Given the description of an element on the screen output the (x, y) to click on. 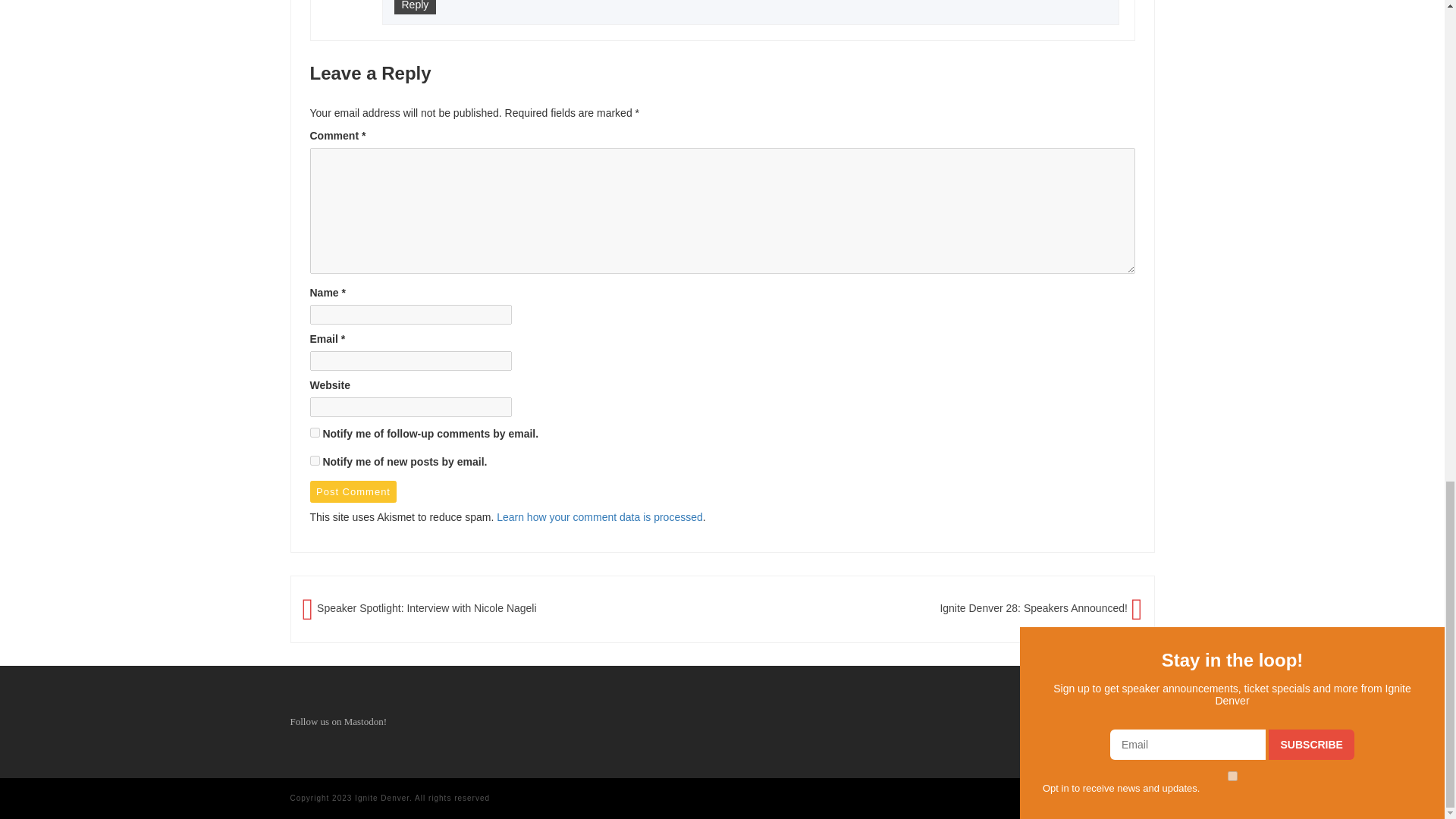
Follow us on Mastodon! (337, 721)
subscribe (313, 432)
Ignite Denver 28: Speakers Announced! (1032, 607)
Post Comment (352, 491)
Post Comment (352, 491)
Speaker Spotlight: Interview with Nicole Nageli (426, 607)
Reply (415, 7)
Learn how your comment data is processed (599, 517)
subscribe (313, 460)
